Given the description of an element on the screen output the (x, y) to click on. 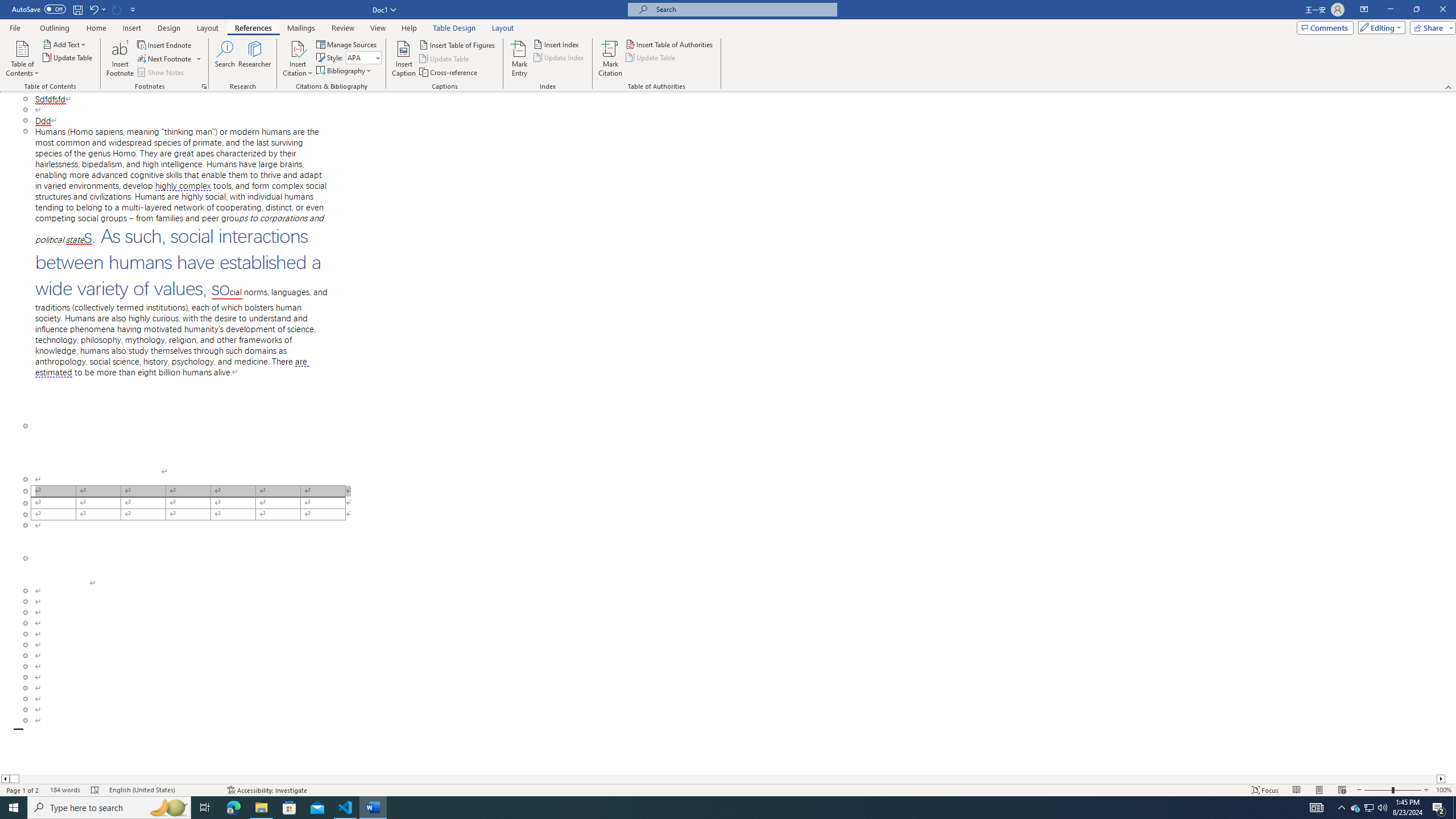
Show Notes (161, 72)
Table of Contents (22, 58)
Footnote and Endnote Dialog... (203, 85)
Bibliography (344, 69)
Page right (727, 778)
Column left (5, 778)
Column right (1441, 778)
Outlining (54, 28)
Word Count 184 words (64, 790)
